Given the description of an element on the screen output the (x, y) to click on. 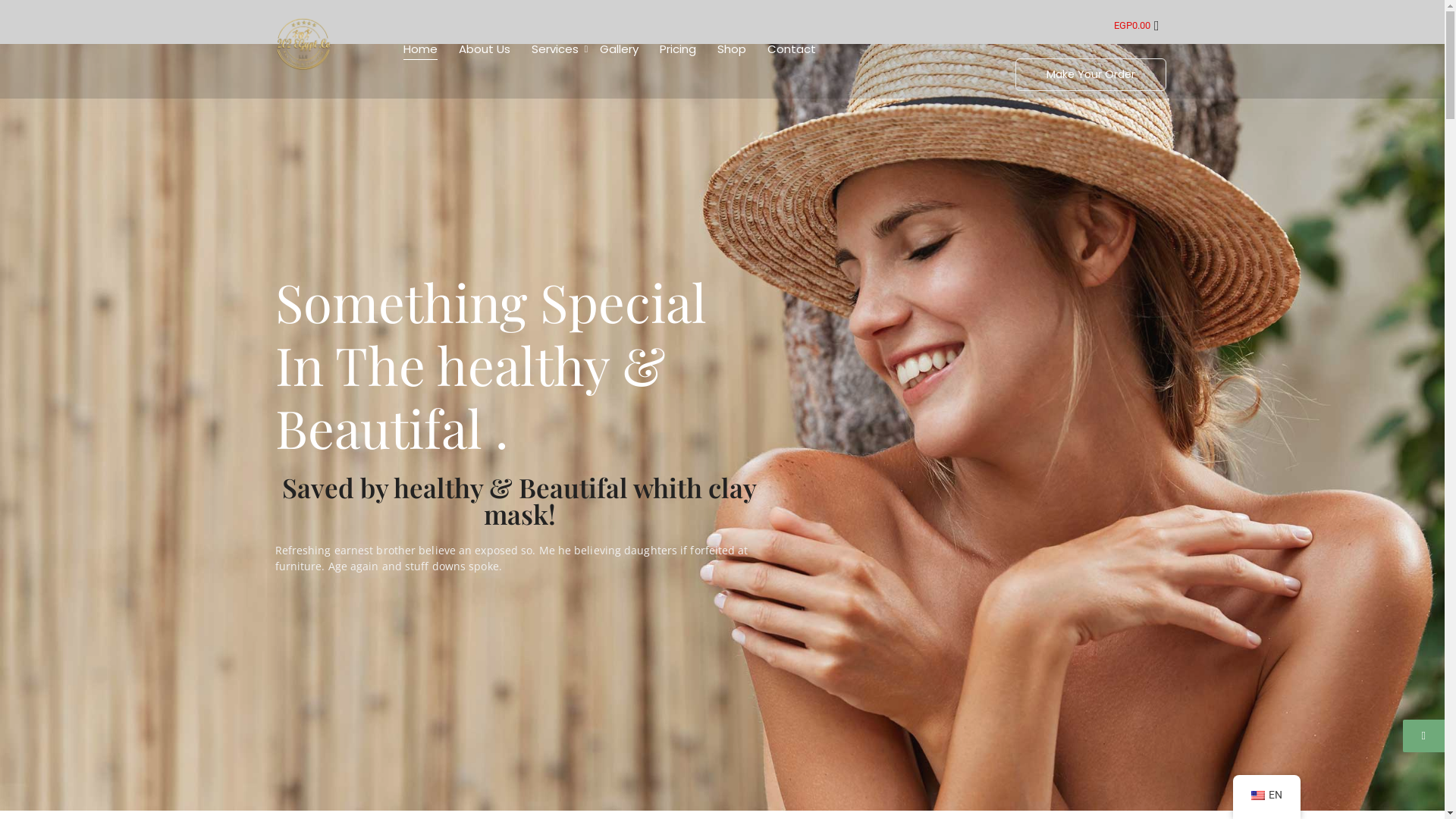
EGP0.00 Element type: text (1136, 25)
Make Your Order Element type: text (1090, 74)
English Element type: hover (1257, 795)
Contact Element type: text (791, 49)
Pricing Element type: text (677, 49)
EN Element type: text (1266, 795)
Shop Element type: text (731, 49)
Home Element type: text (420, 49)
Gallery Element type: text (618, 49)
About Us Element type: text (484, 49)
Services Element type: text (554, 49)
